Given the description of an element on the screen output the (x, y) to click on. 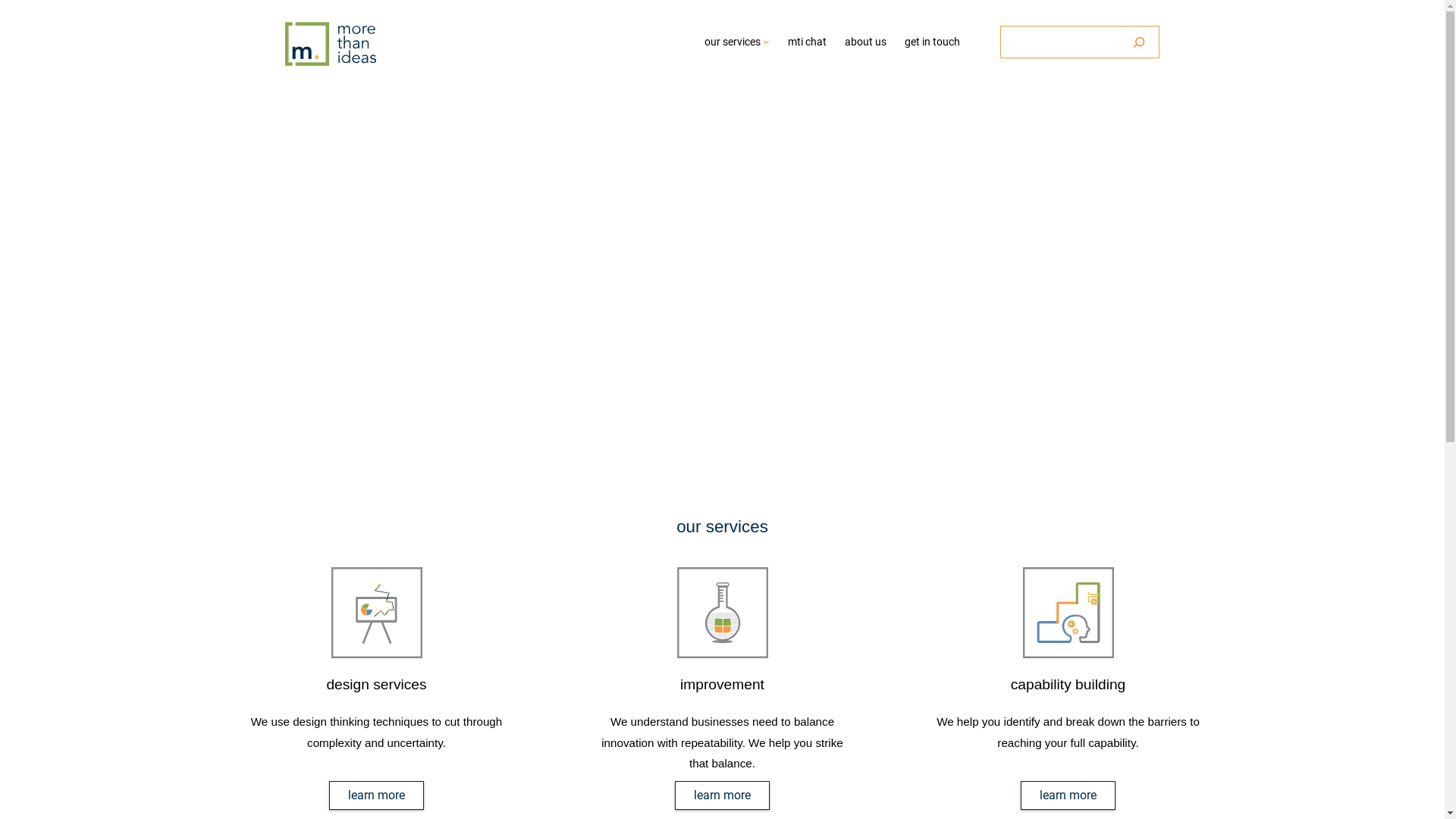
learn more Element type: text (1067, 795)
about us Element type: text (865, 41)
get in touch Element type: text (932, 41)
mti chat Element type: text (806, 41)
learn more Element type: text (721, 795)
learn more Element type: text (376, 795)
our services Element type: text (732, 41)
